Given the description of an element on the screen output the (x, y) to click on. 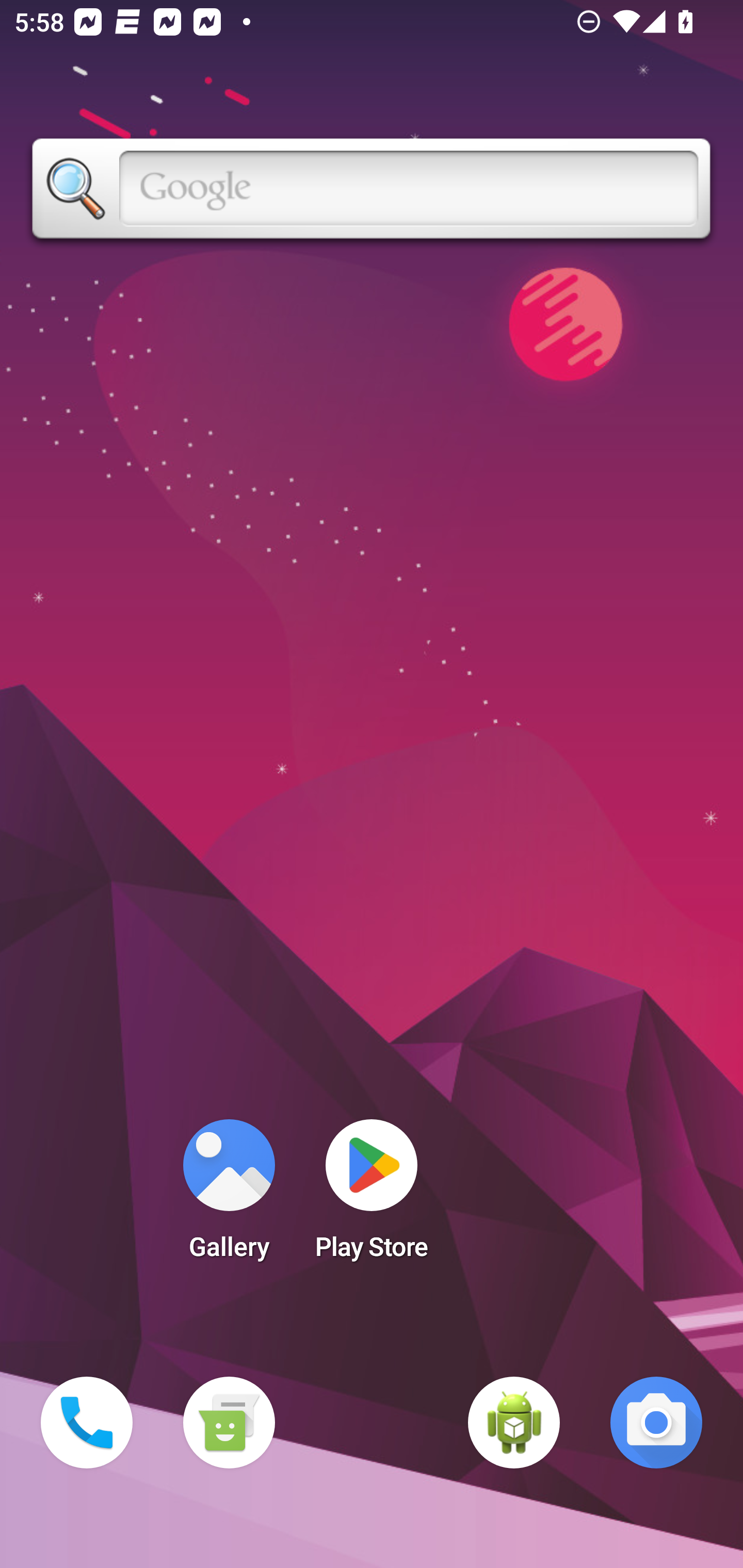
Gallery (228, 1195)
Play Store (371, 1195)
Phone (86, 1422)
Messaging (228, 1422)
WebView Browser Tester (513, 1422)
Camera (656, 1422)
